Given the description of an element on the screen output the (x, y) to click on. 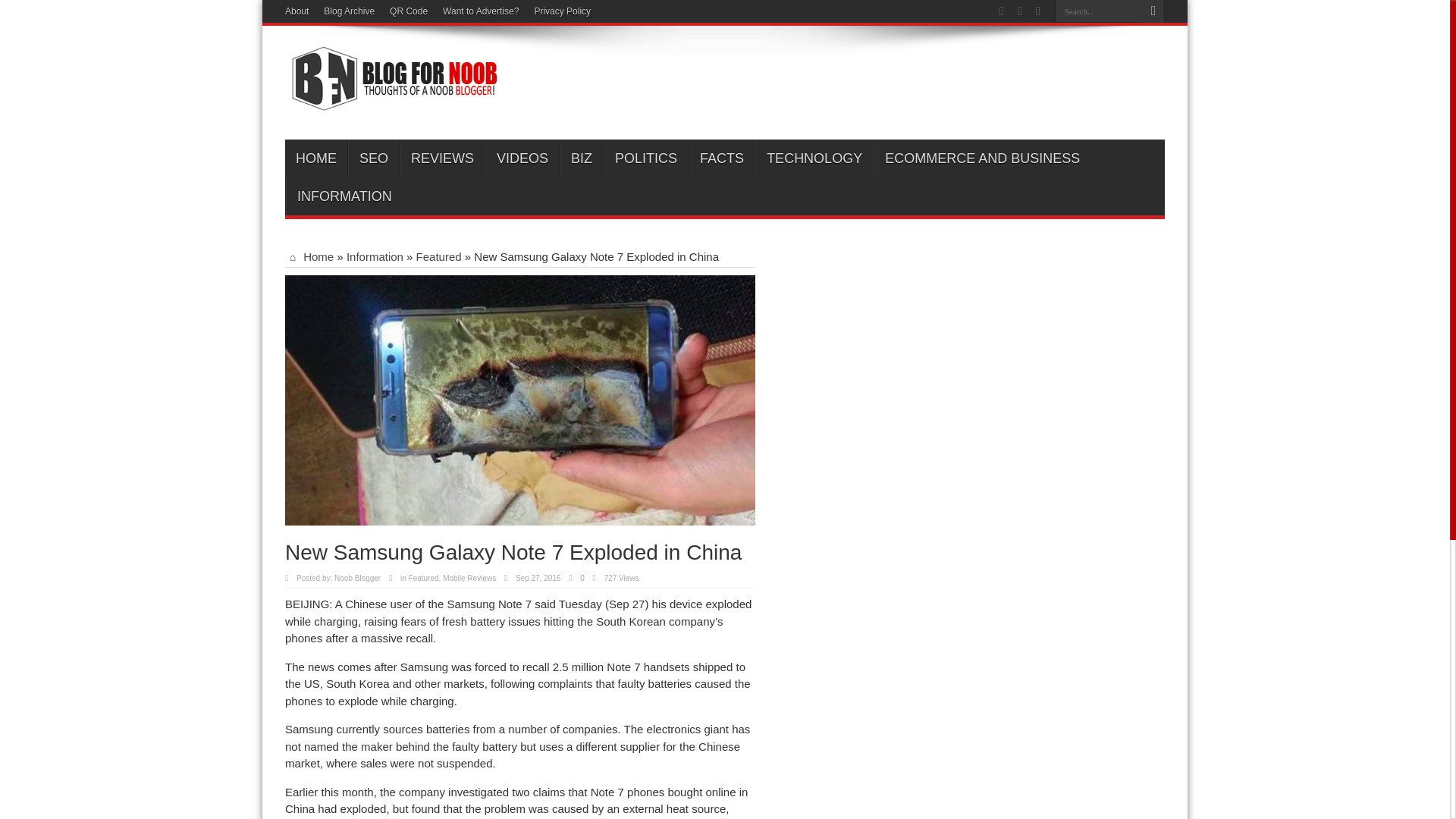
Search... (1097, 11)
Want to Advertise? (480, 11)
Search (1152, 11)
POLITICS (645, 158)
QR Code (409, 11)
Blog For Noob (391, 101)
TECHNOLOGY (813, 158)
FACTS (721, 158)
Privacy Policy (562, 11)
BIZ (580, 158)
